Given the description of an element on the screen output the (x, y) to click on. 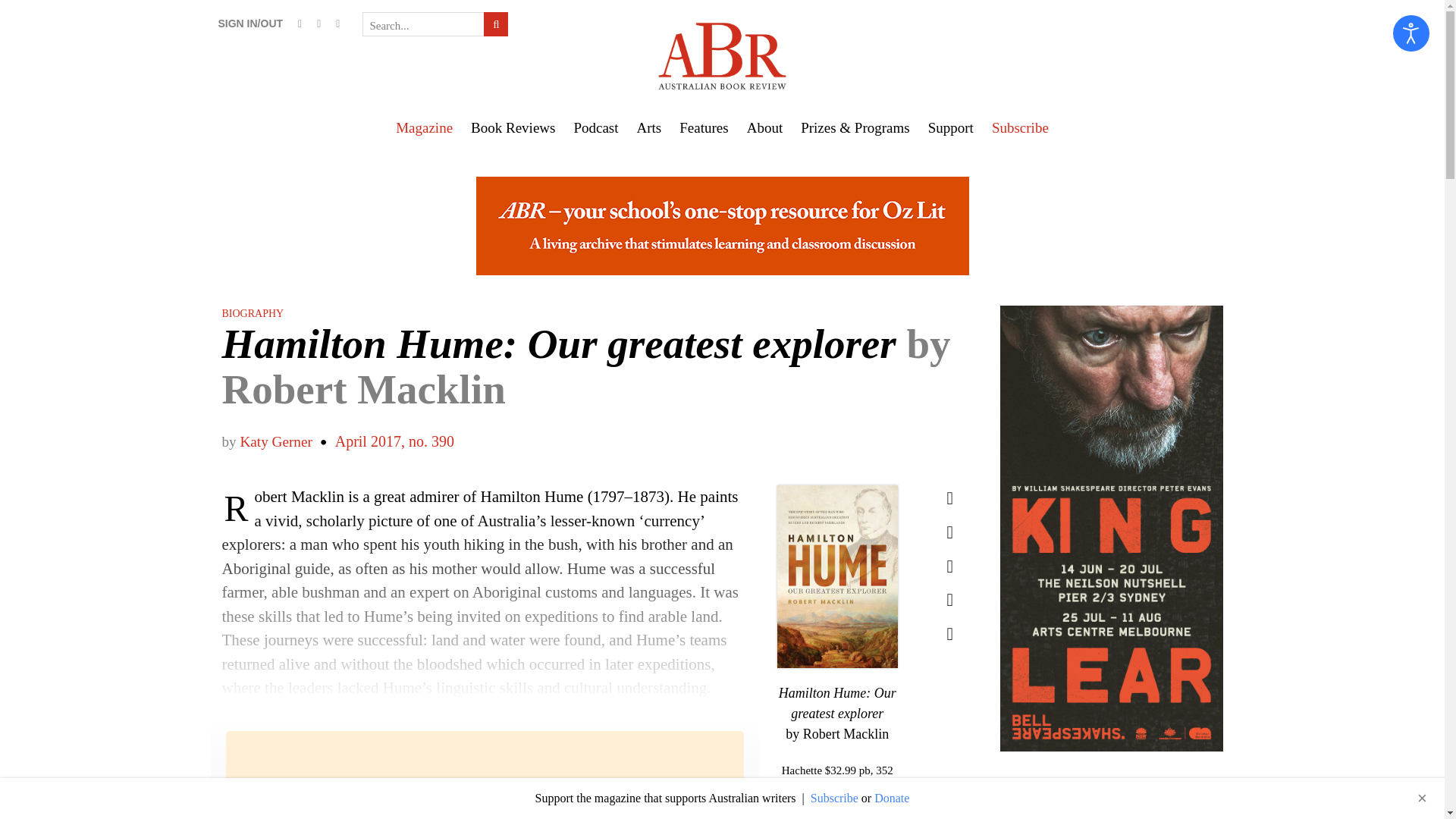
Book Reviews (512, 127)
Open accessibility tools (1411, 33)
Magazine (424, 127)
